Given the description of an element on the screen output the (x, y) to click on. 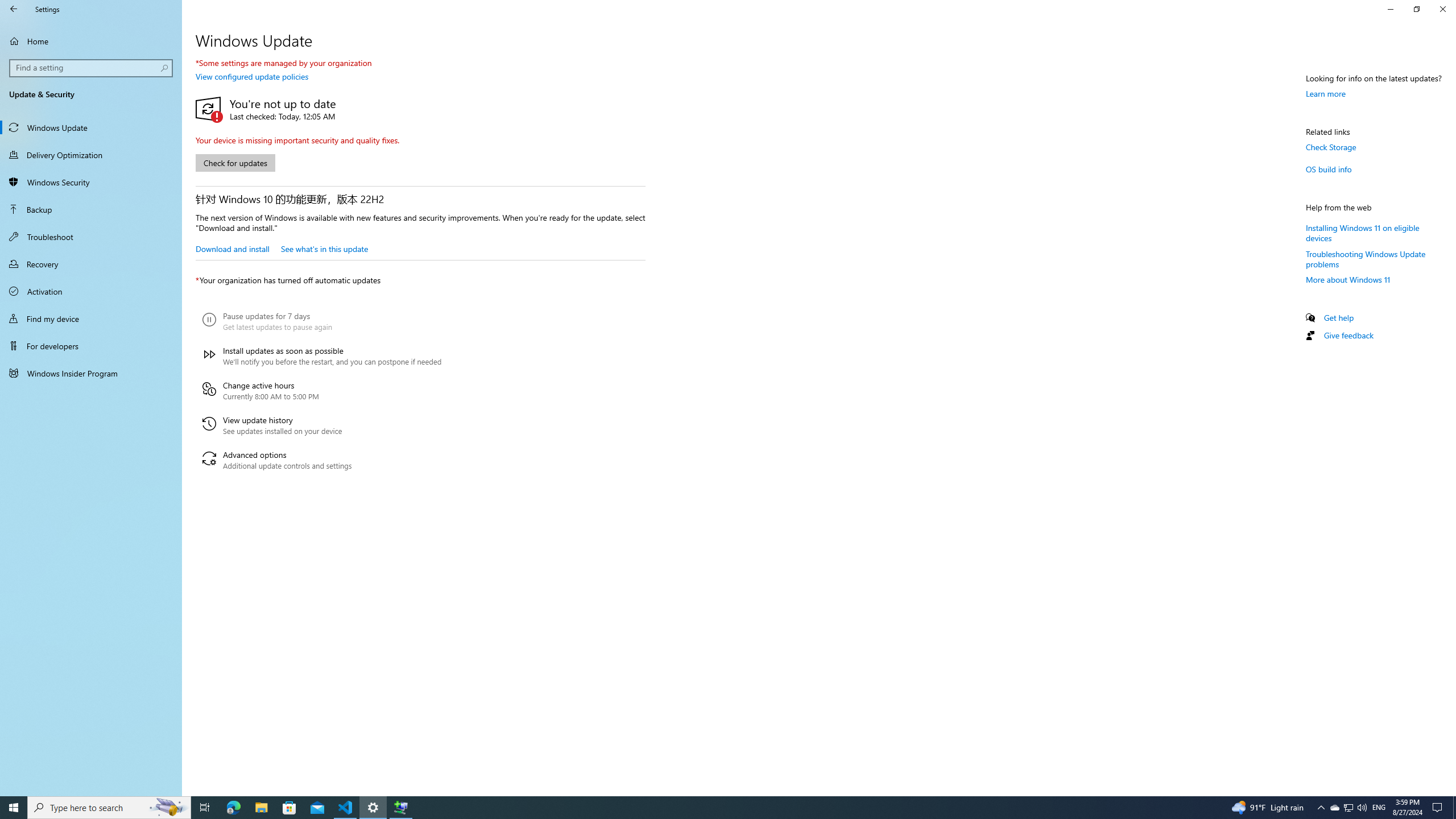
Activation (91, 290)
Home (91, 40)
See what's in this update (324, 248)
Troubleshooting Windows Update problems (1365, 258)
Running applications (706, 807)
Search box, Find a setting (91, 67)
Backup (91, 208)
